Given the description of an element on the screen output the (x, y) to click on. 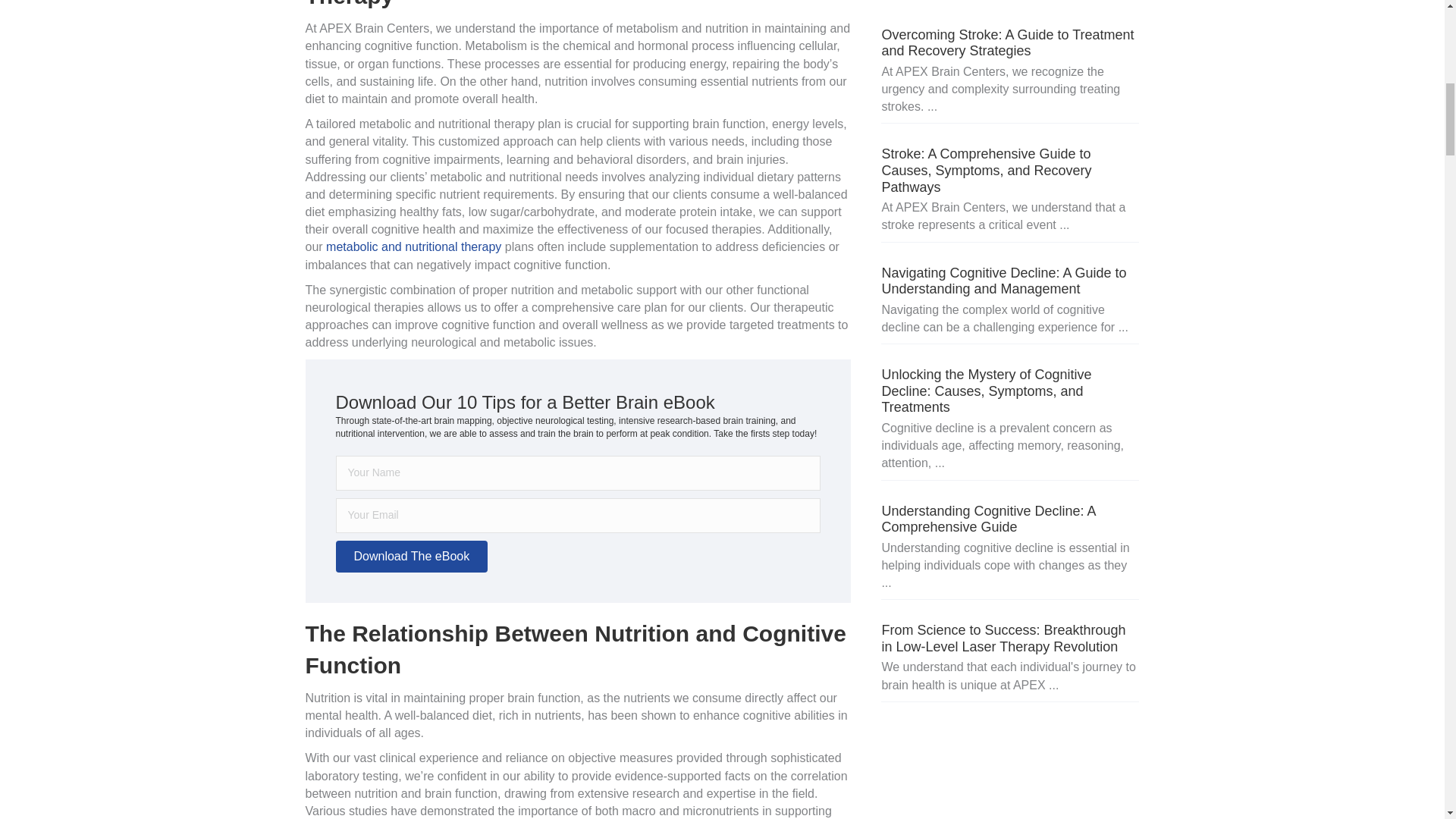
Understanding Cognitive Decline: A Comprehensive Guide (987, 519)
